Given the description of an element on the screen output the (x, y) to click on. 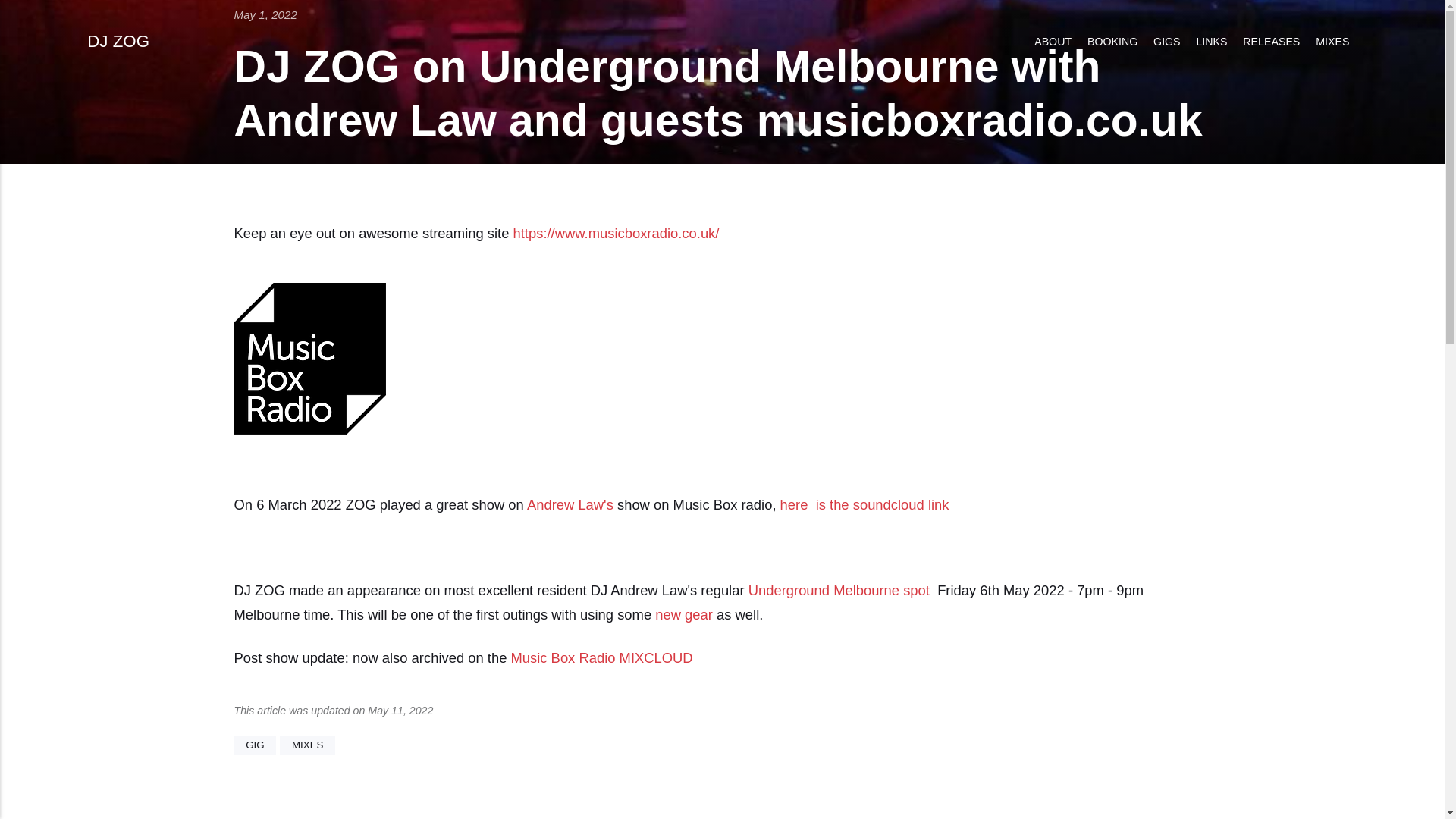
new gear Element type: text (683, 614)
GIGS Element type: text (1166, 41)
MIXES Element type: text (307, 744)
Music Box Radio MIXCLOUD Element type: text (601, 657)
DJ ZOG Element type: text (118, 41)
BOOKING Element type: text (1112, 41)
RELEASES Element type: text (1271, 41)
Underground Melbourne spot Element type: text (838, 590)
ABOUT Element type: text (1052, 41)
https://www.musicboxradio.co.uk/ Element type: text (616, 233)
here  is the soundcloud link Element type: text (864, 504)
MIXES Element type: text (1332, 41)
Andrew Law's Element type: text (570, 504)
GIG Element type: text (254, 744)
